Given the description of an element on the screen output the (x, y) to click on. 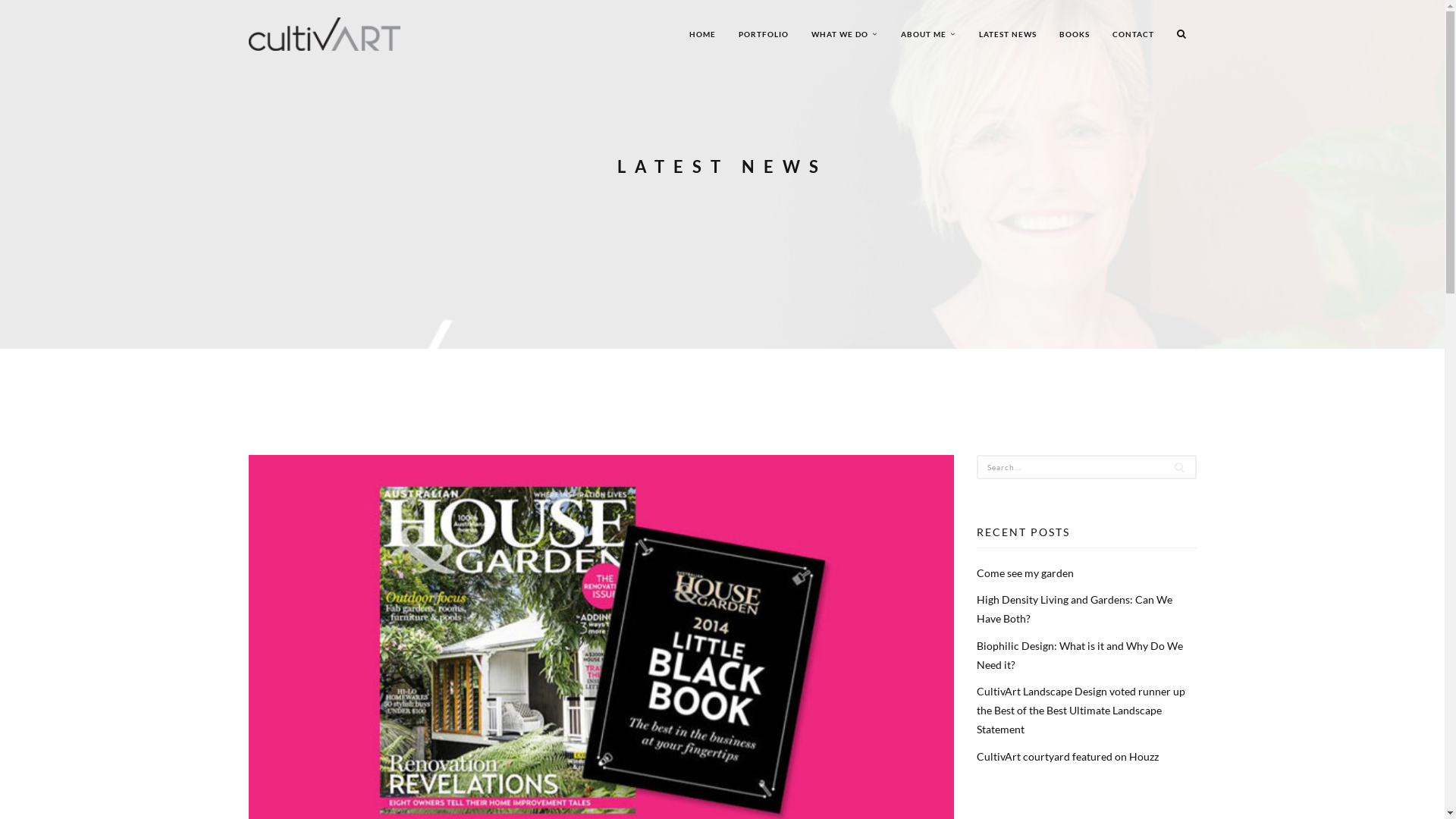
CONTACT Element type: text (1133, 33)
PORTFOLIO Element type: text (762, 33)
Biophilic Design: What is it and Why Do We Need it? Element type: text (1079, 655)
BOOKS Element type: text (1074, 33)
High Density Living and Gardens: Can We Have Both? Element type: text (1074, 608)
HOME Element type: text (702, 33)
ABOUT ME Element type: text (927, 33)
CultivArt courtyard featured on Houzz Element type: text (1067, 755)
Come see my garden Element type: text (1024, 572)
LATEST NEWS Element type: text (1007, 33)
WHAT WE DO Element type: text (843, 33)
